Given the description of an element on the screen output the (x, y) to click on. 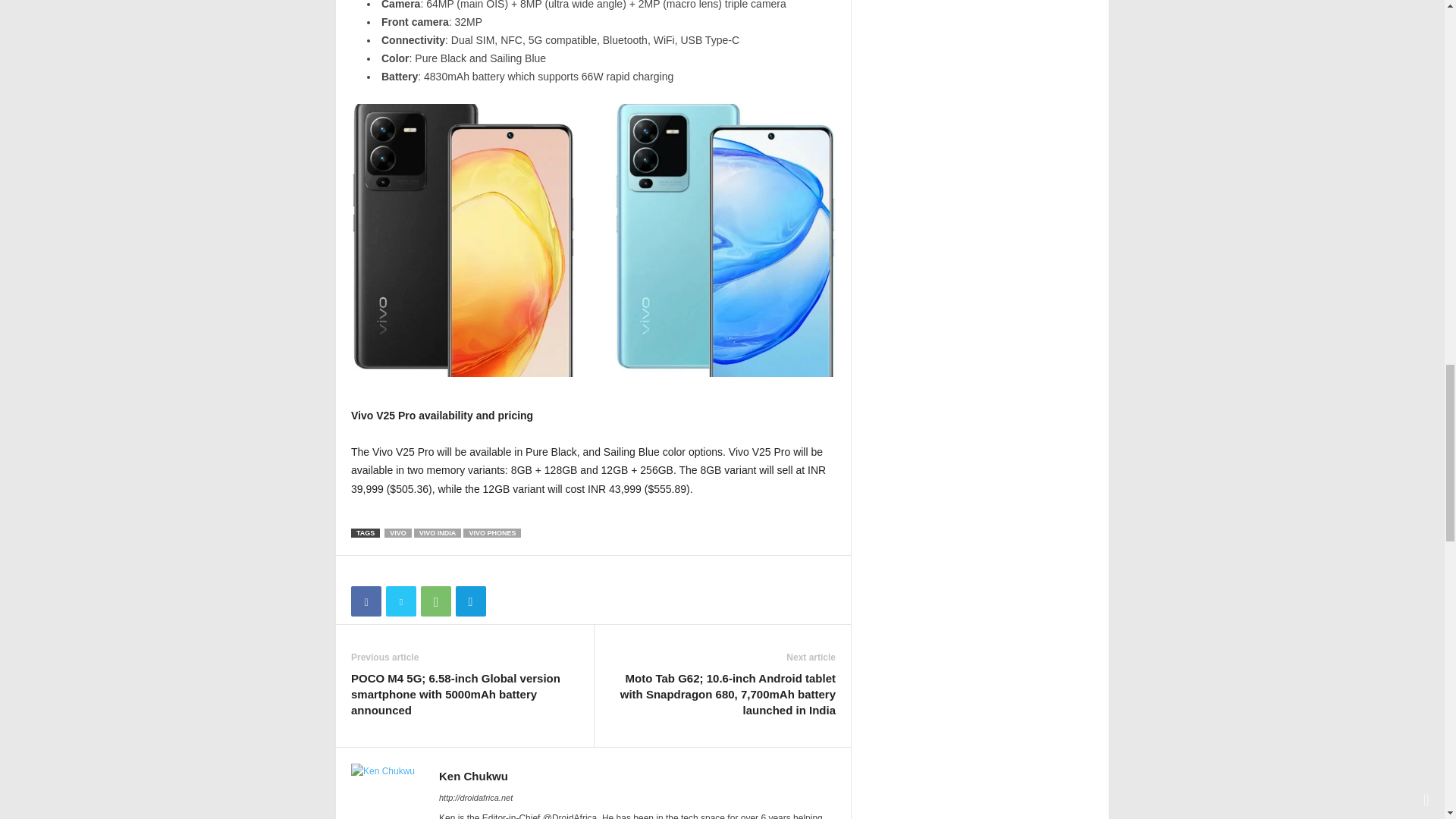
Telegram (470, 601)
Vivo V252 (592, 240)
VIVO INDIA (437, 532)
VIVO PHONES (492, 532)
Twitter (400, 601)
bottomFacebookLike (390, 571)
VIVO (398, 532)
WhatsApp (435, 601)
Facebook (365, 601)
